Given the description of an element on the screen output the (x, y) to click on. 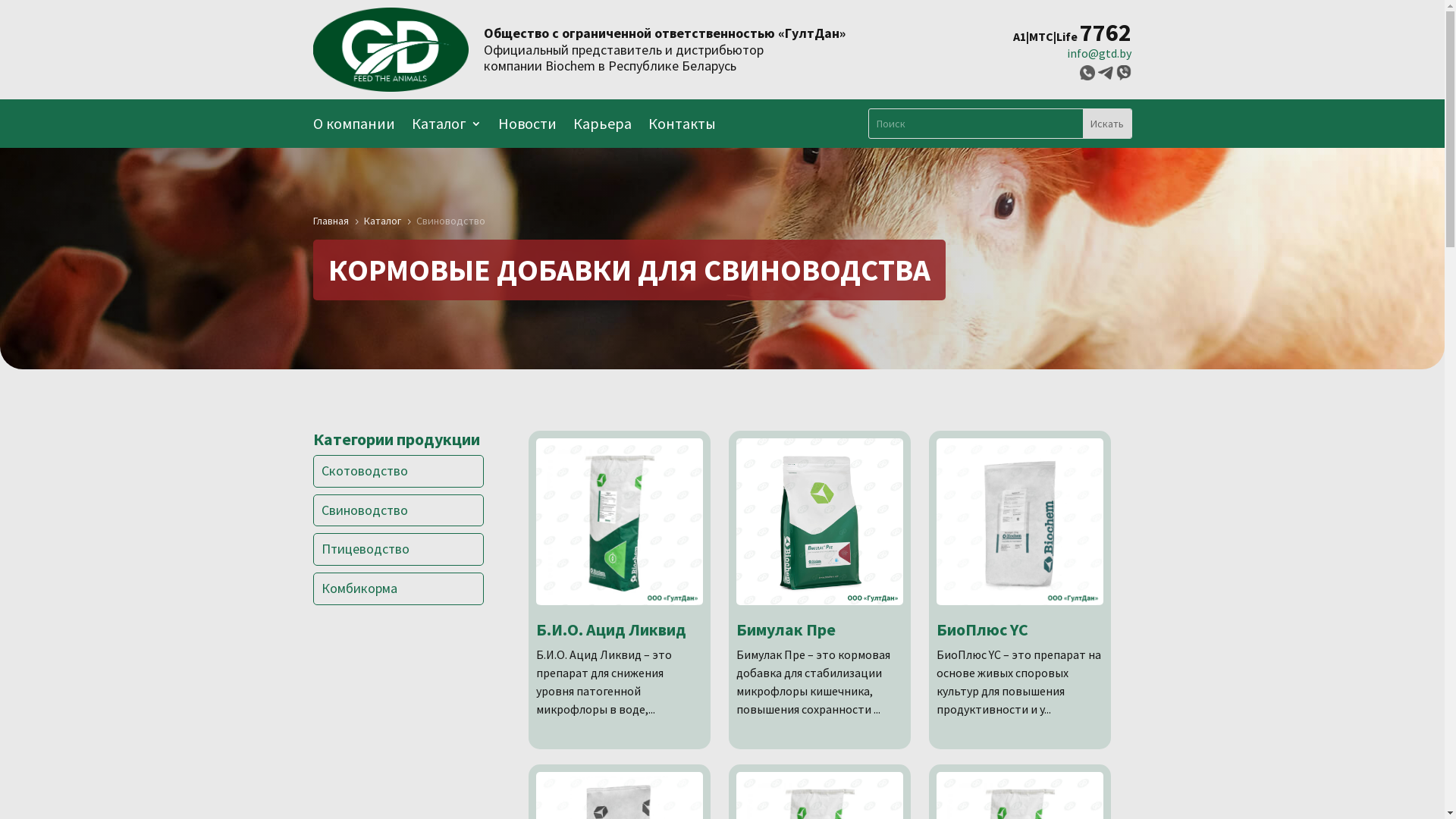
logotype_bg Element type: hover (389, 49)
7762 Element type: text (1105, 35)
info@gtd.by Element type: text (1098, 52)
